Given the description of an element on the screen output the (x, y) to click on. 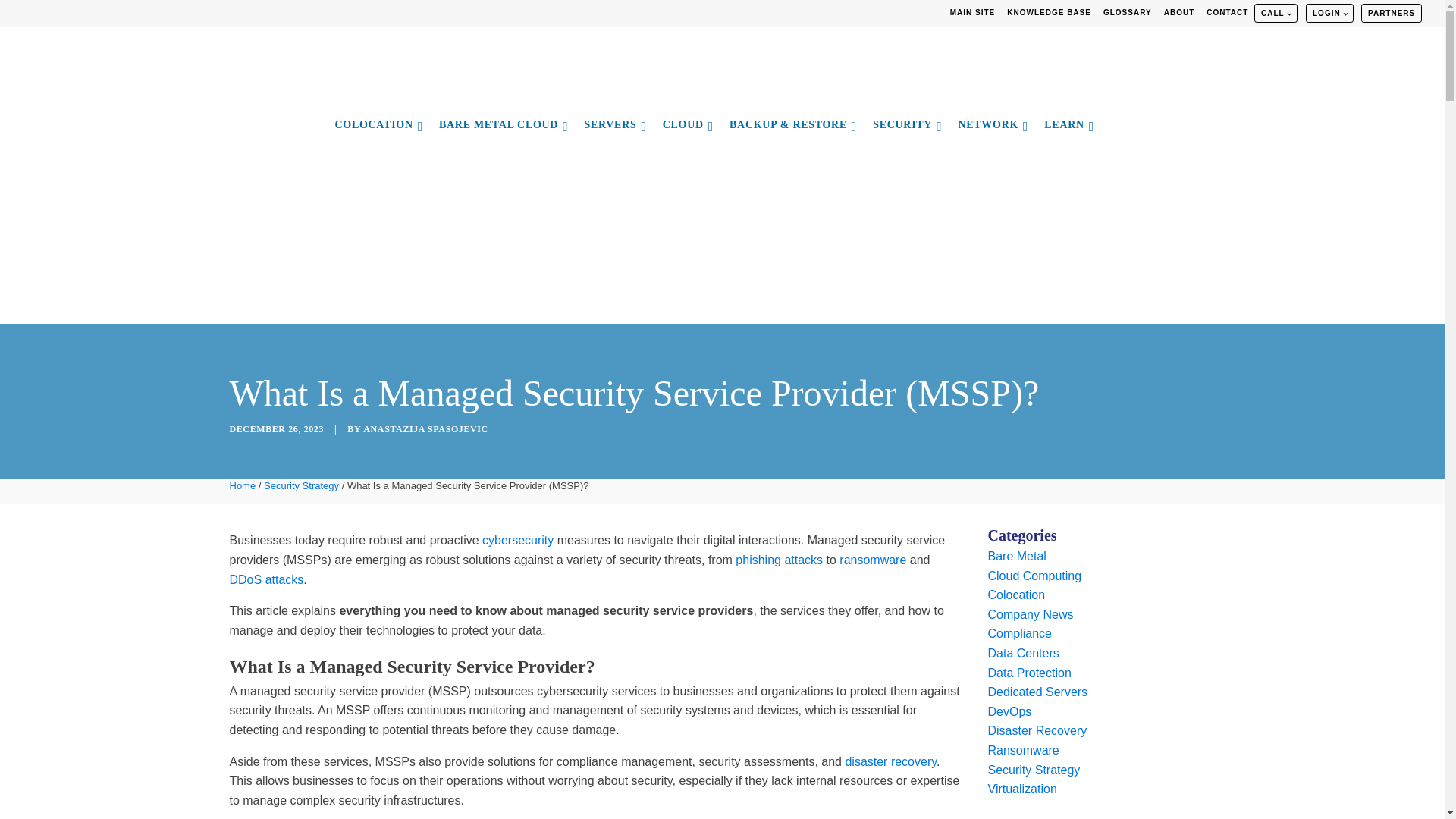
ABOUT (1179, 13)
LOGIN (1329, 13)
CALL (1276, 13)
MAIN SITE (972, 13)
COLOCATION (377, 128)
CONTACT (1226, 13)
GLOSSARY (1127, 13)
BARE METAL CLOUD (502, 128)
KNOWLEDGE BASE (1049, 13)
PARTNERS (1391, 13)
